Given the description of an element on the screen output the (x, y) to click on. 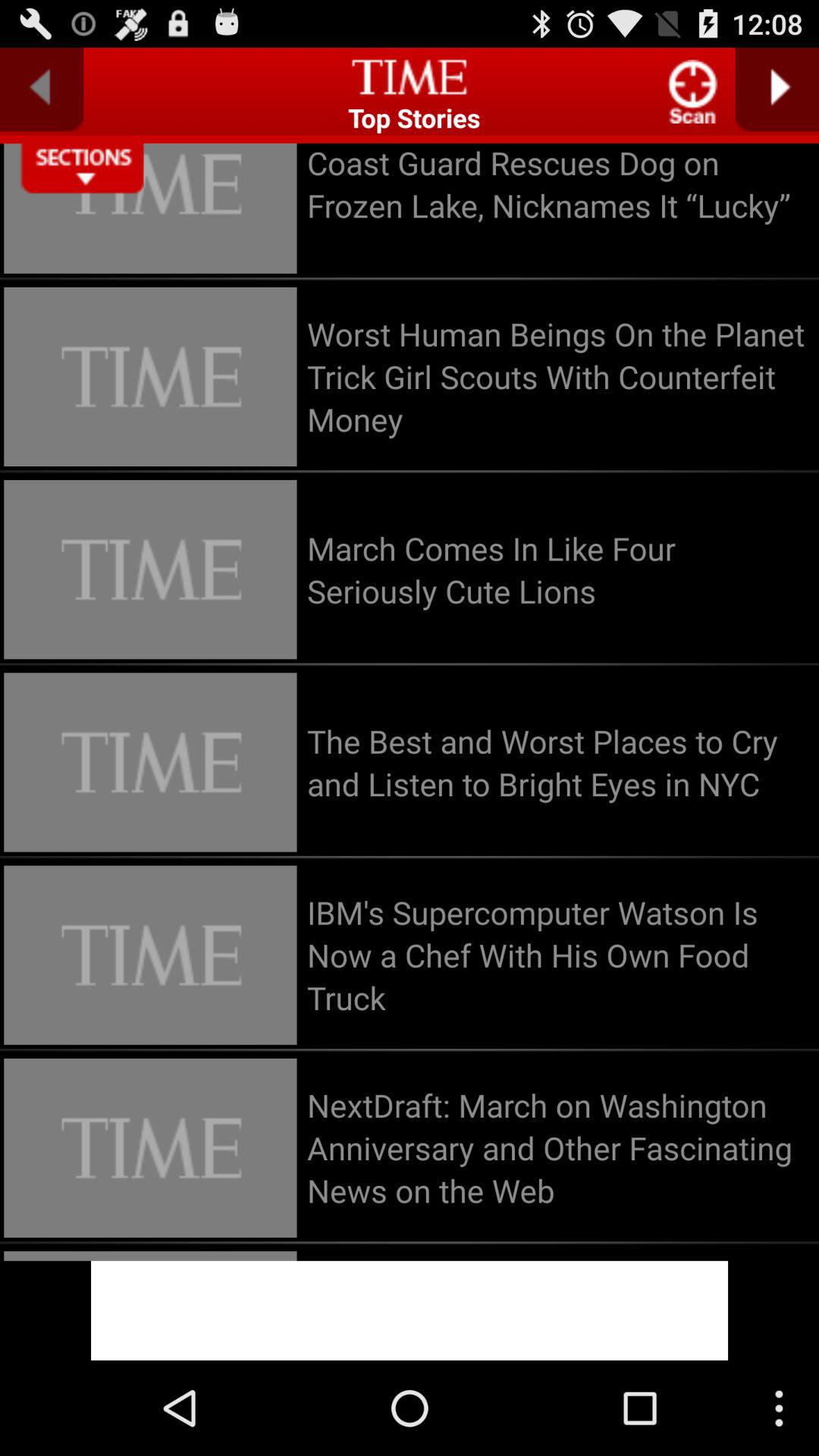
go to previous (41, 89)
